Given the description of an element on the screen output the (x, y) to click on. 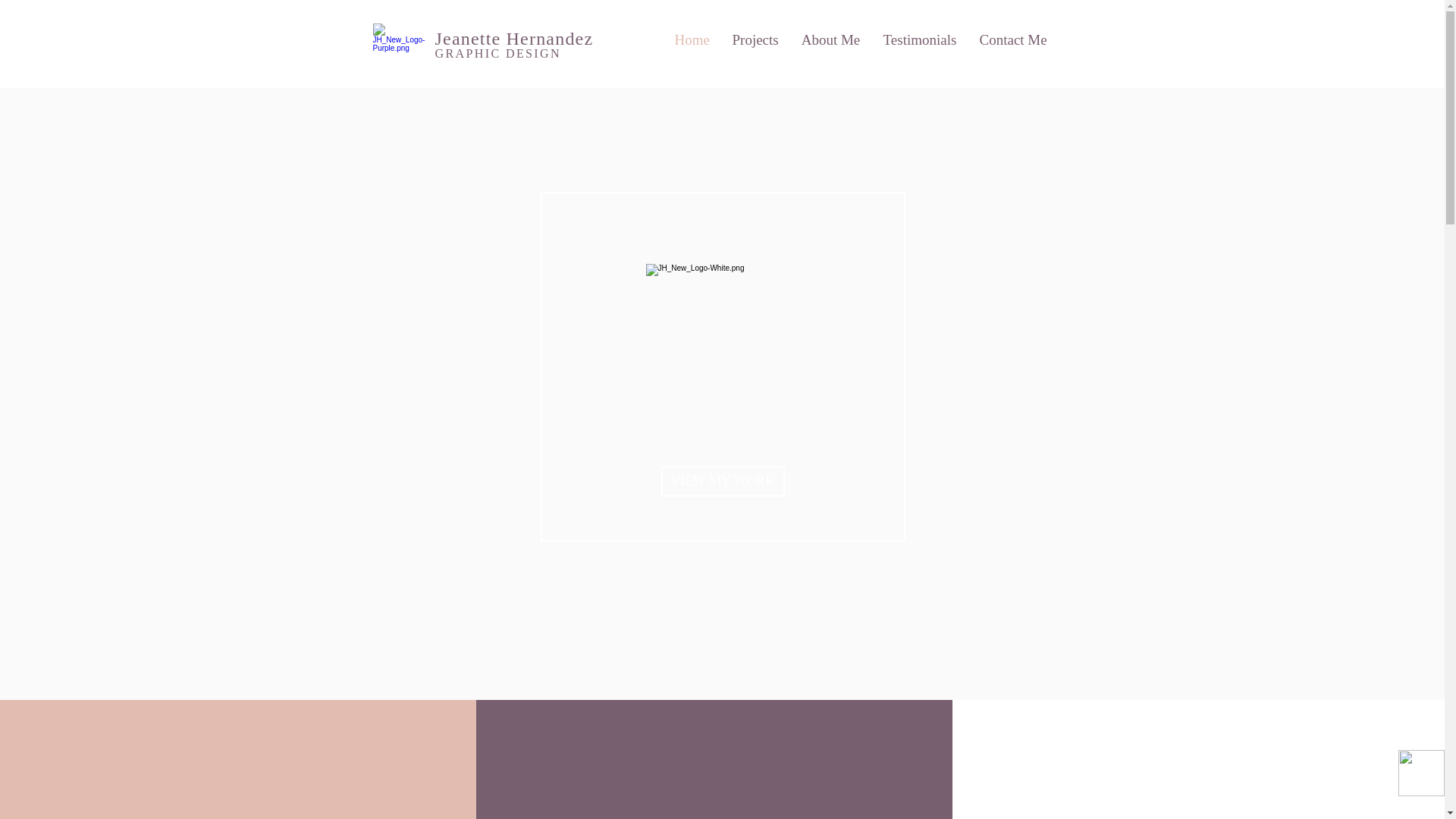
About Me (831, 40)
Testimonials (920, 40)
Projects (754, 40)
Home (691, 40)
VIEW MY WORK (722, 481)
Jeanette Hernandez (514, 38)
Contact Me (1013, 40)
